Given the description of an element on the screen output the (x, y) to click on. 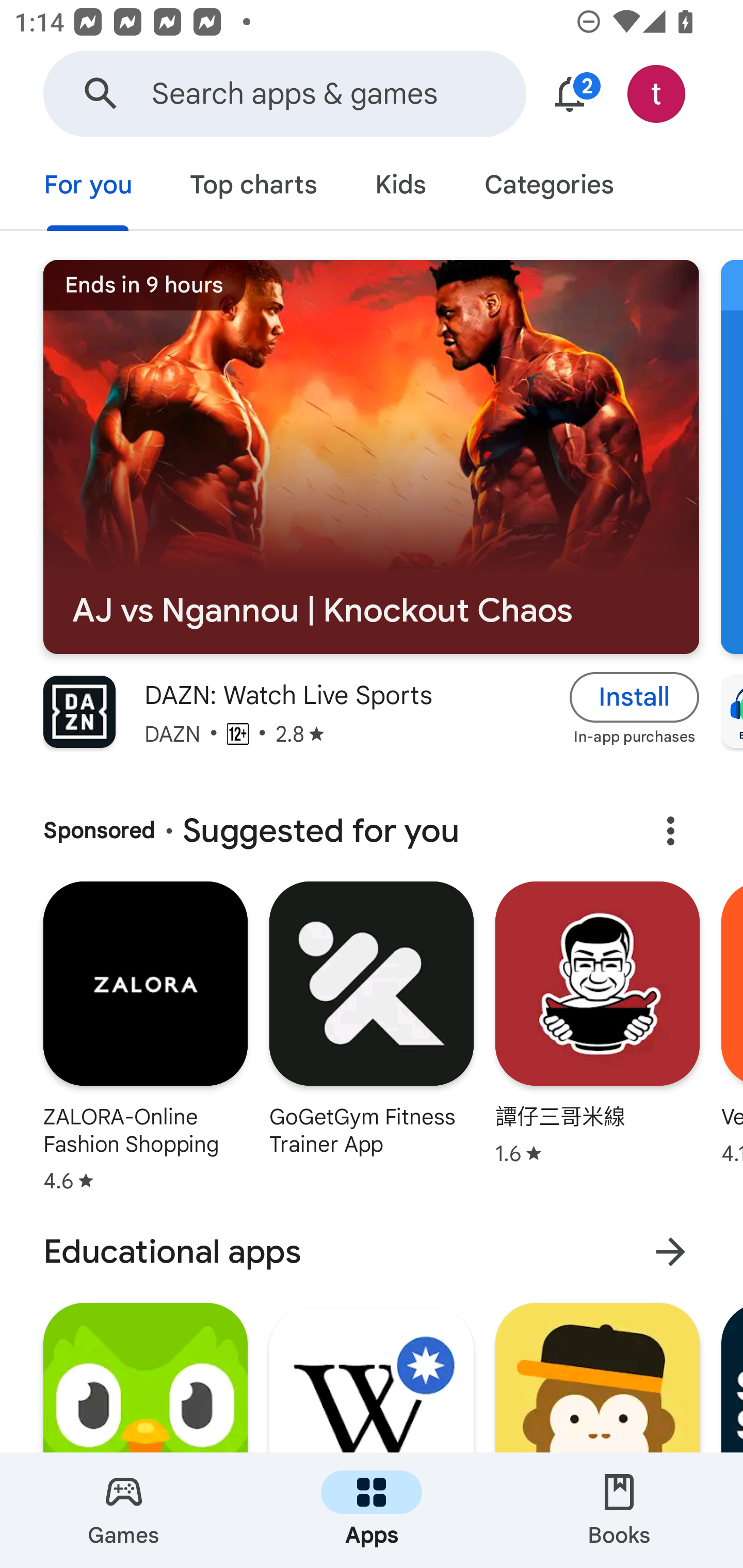
Search Google Play Search apps & games (284, 93)
Search Google Play (100, 93)
Top charts (253, 187)
Kids (400, 187)
Categories (548, 187)
AJ vs Ngannou | Knockout Chaos Ends in 9 hours (371, 456)
Install (634, 696)
About this ad (670, 830)
ZALORA-Online Fashion Shopping
Star rating: 4.6
 (145, 1041)
GoGetGym Fitness Trainer App
 (371, 1041)
譚仔三哥米線
Star rating: 1.6
 (597, 1041)
Educational apps More results for Educational apps (371, 1252)
More results for Educational apps (670, 1251)
Games (123, 1509)
Books (619, 1509)
